Given the description of an element on the screen output the (x, y) to click on. 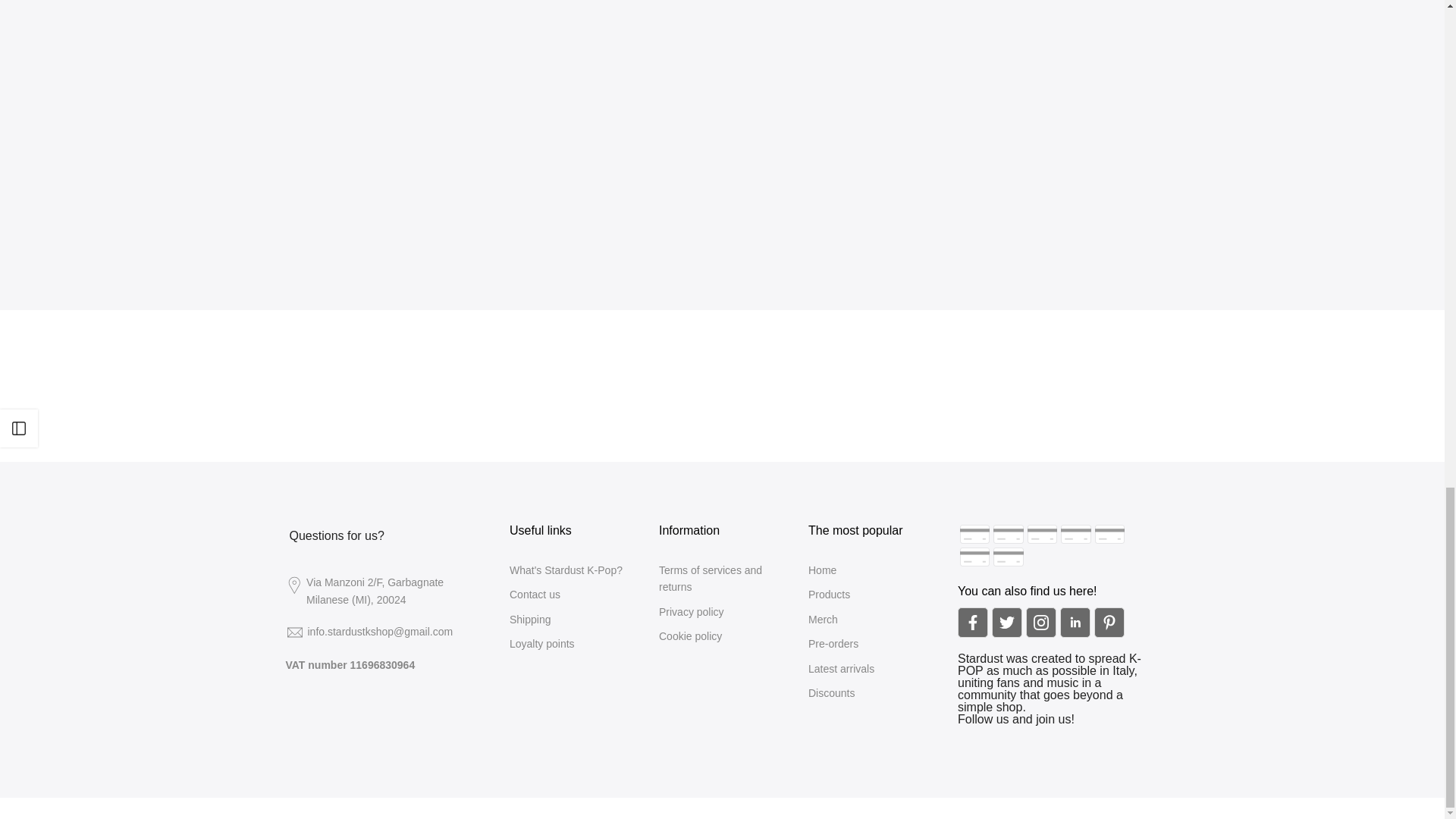
Follow on Instagram (1041, 622)
Follow on Linkedin (1074, 622)
YouTube video player (497, 127)
Follow on Facebook (973, 622)
Follow on Pinterest (1109, 622)
Follow on Twitter (1006, 622)
